Given the description of an element on the screen output the (x, y) to click on. 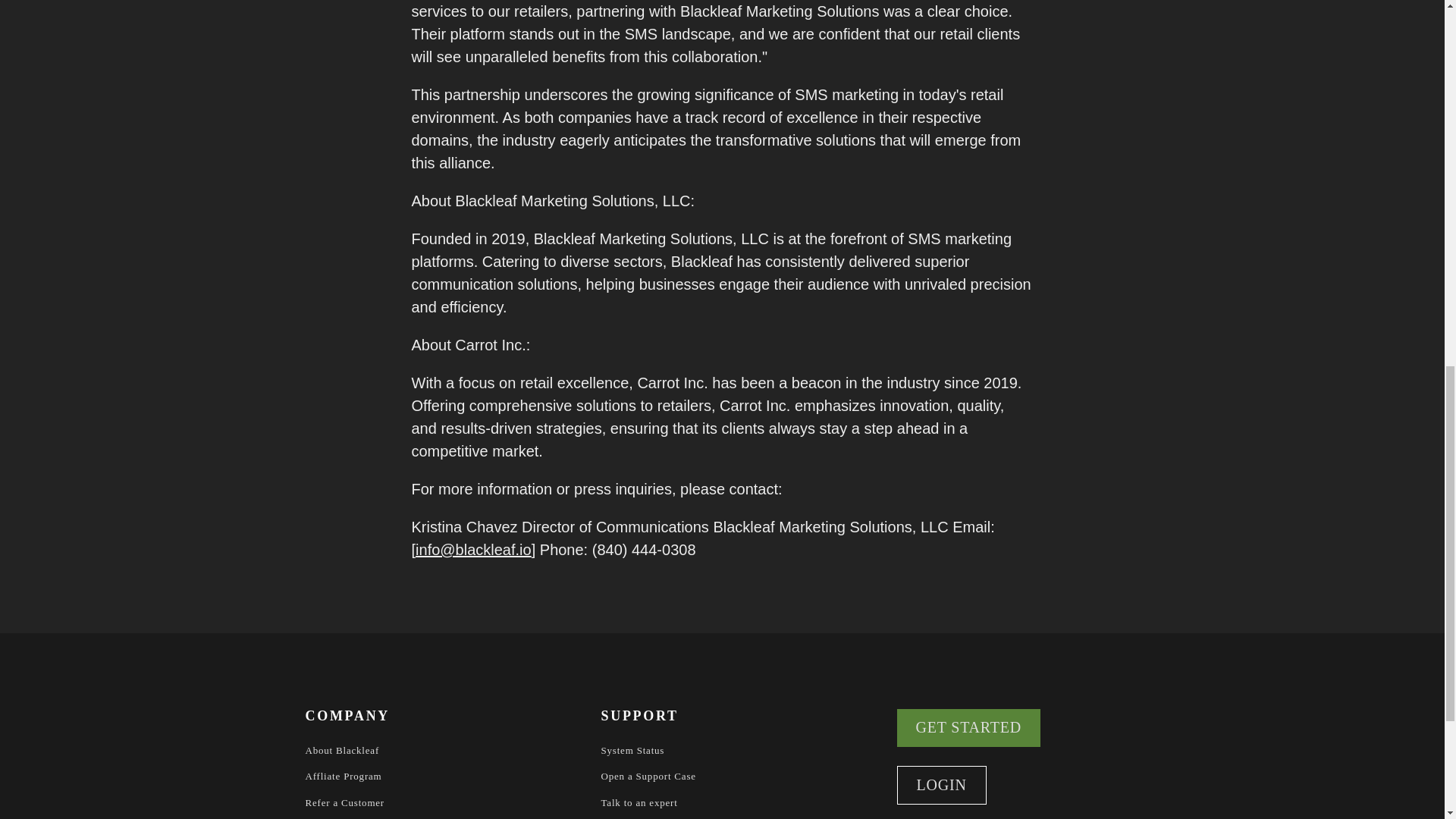
About Blackleaf (341, 750)
Talk to an expert (638, 801)
Affliate Program (342, 776)
GET STARTED (968, 727)
LOGIN (940, 785)
Open a Support Case (647, 776)
Refer a Customer (344, 801)
System Status (631, 750)
